Given the description of an element on the screen output the (x, y) to click on. 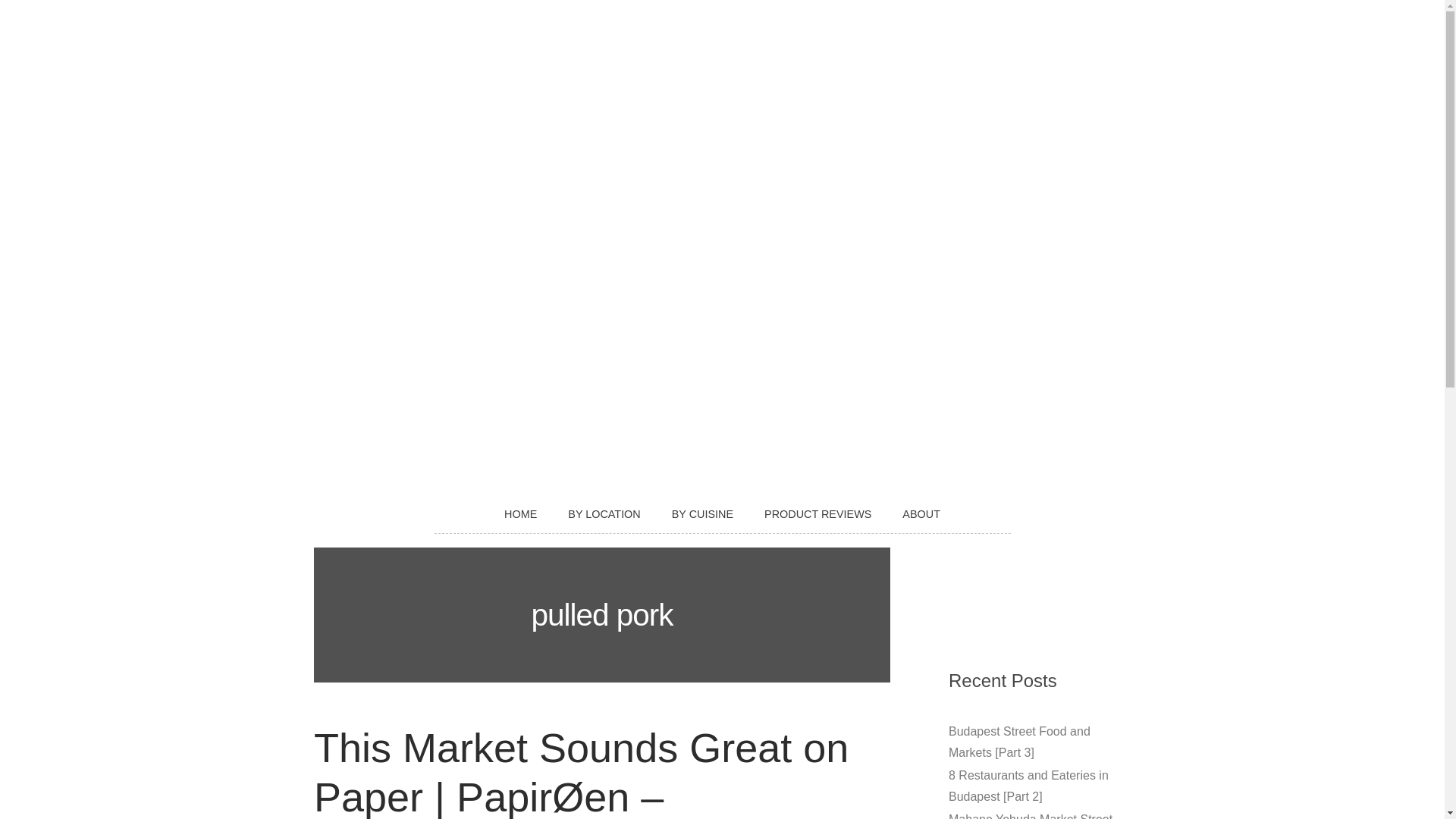
Om Nom Nomad (721, 203)
BY LOCATION (603, 514)
ABOUT (921, 514)
HOME (520, 514)
PRODUCT REVIEWS (817, 514)
BY CUISINE (702, 514)
